Given the description of an element on the screen output the (x, y) to click on. 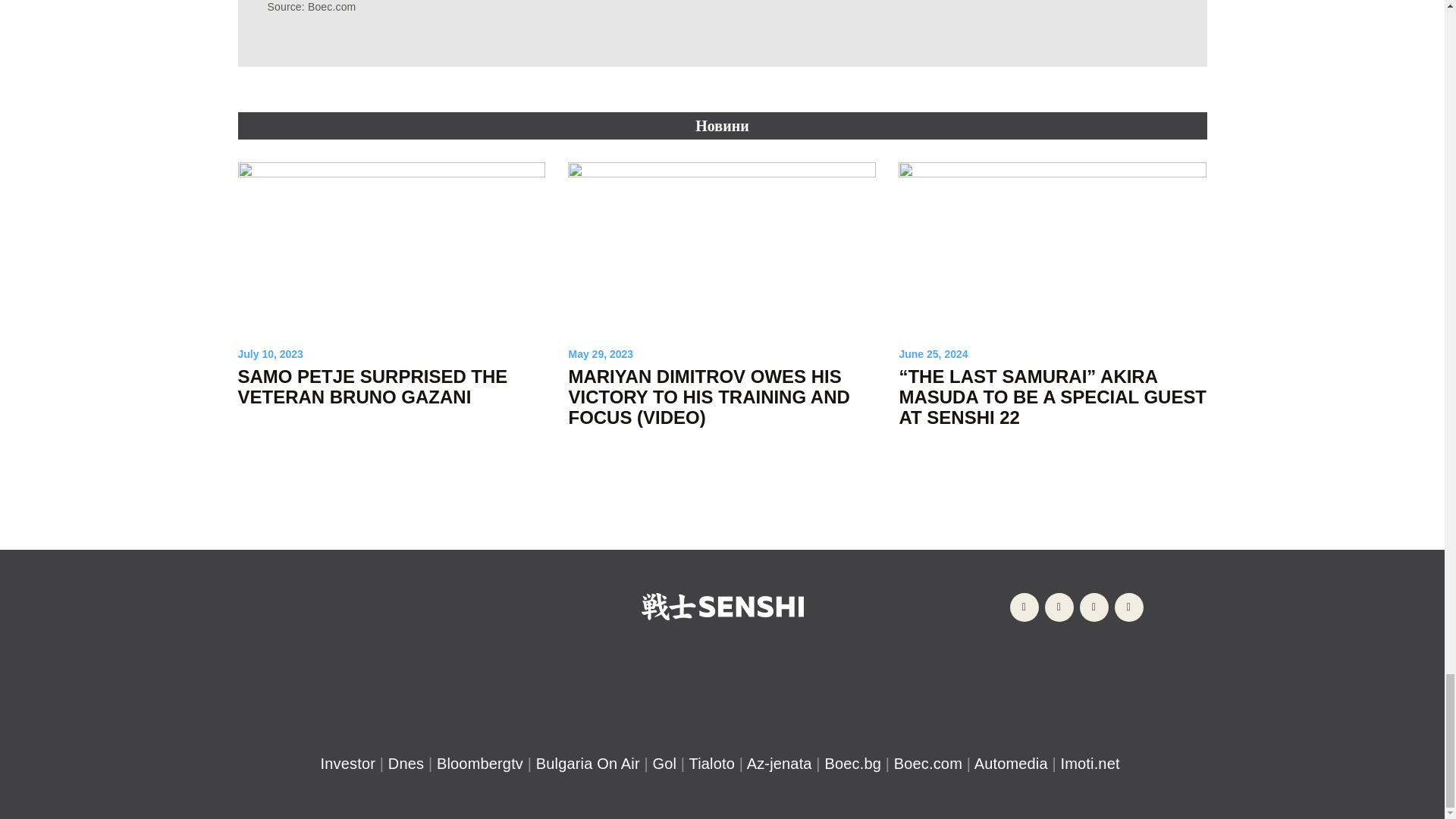
May 29, 2023 (600, 354)
July 10, 2023 (270, 354)
SAMO PETJE SURPRISED THE VETERAN BRUNO GAZANI (392, 386)
June 25, 2024 (933, 354)
